Given the description of an element on the screen output the (x, y) to click on. 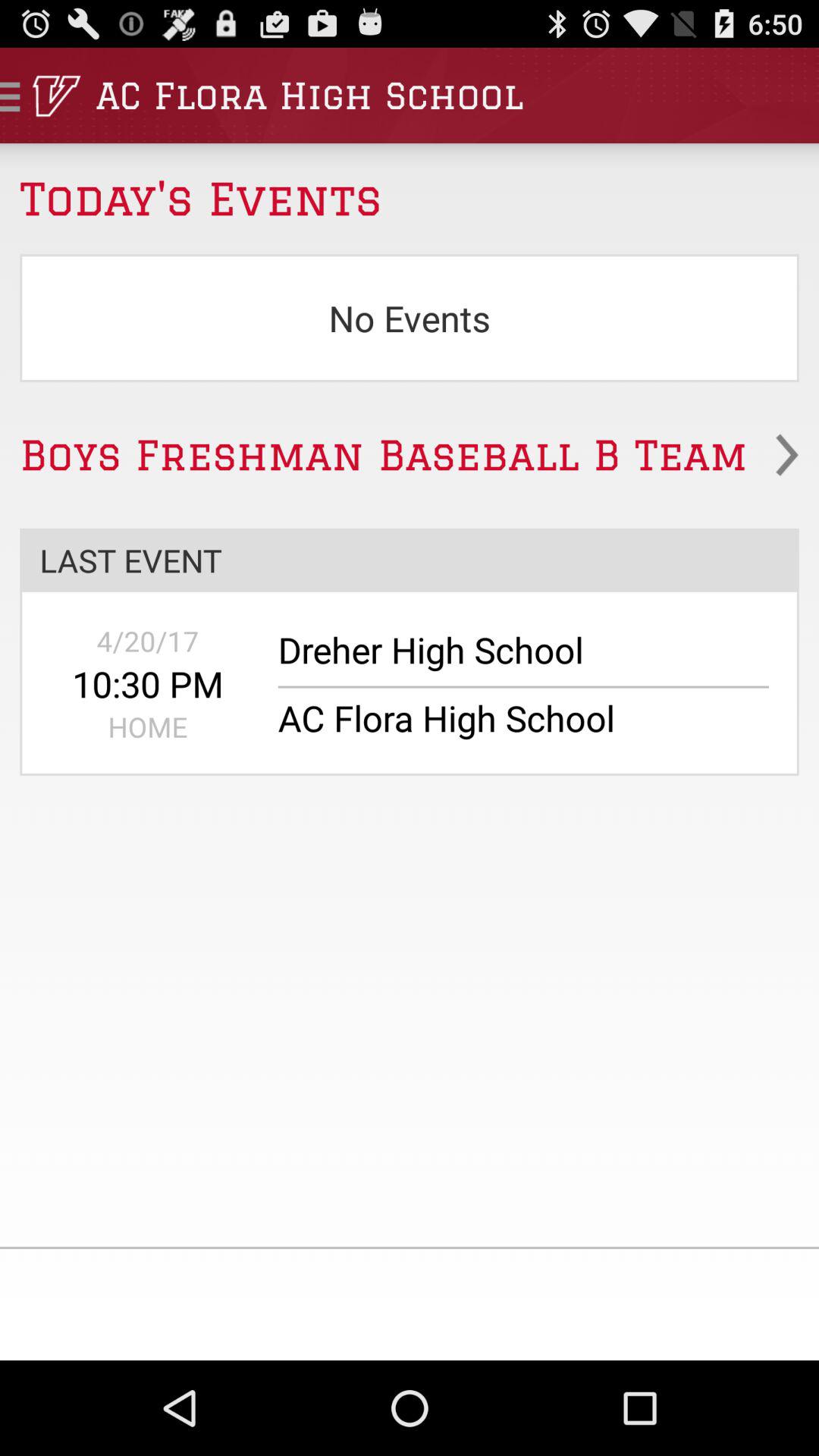
open the boys freshman baseball (409, 455)
